Given the description of an element on the screen output the (x, y) to click on. 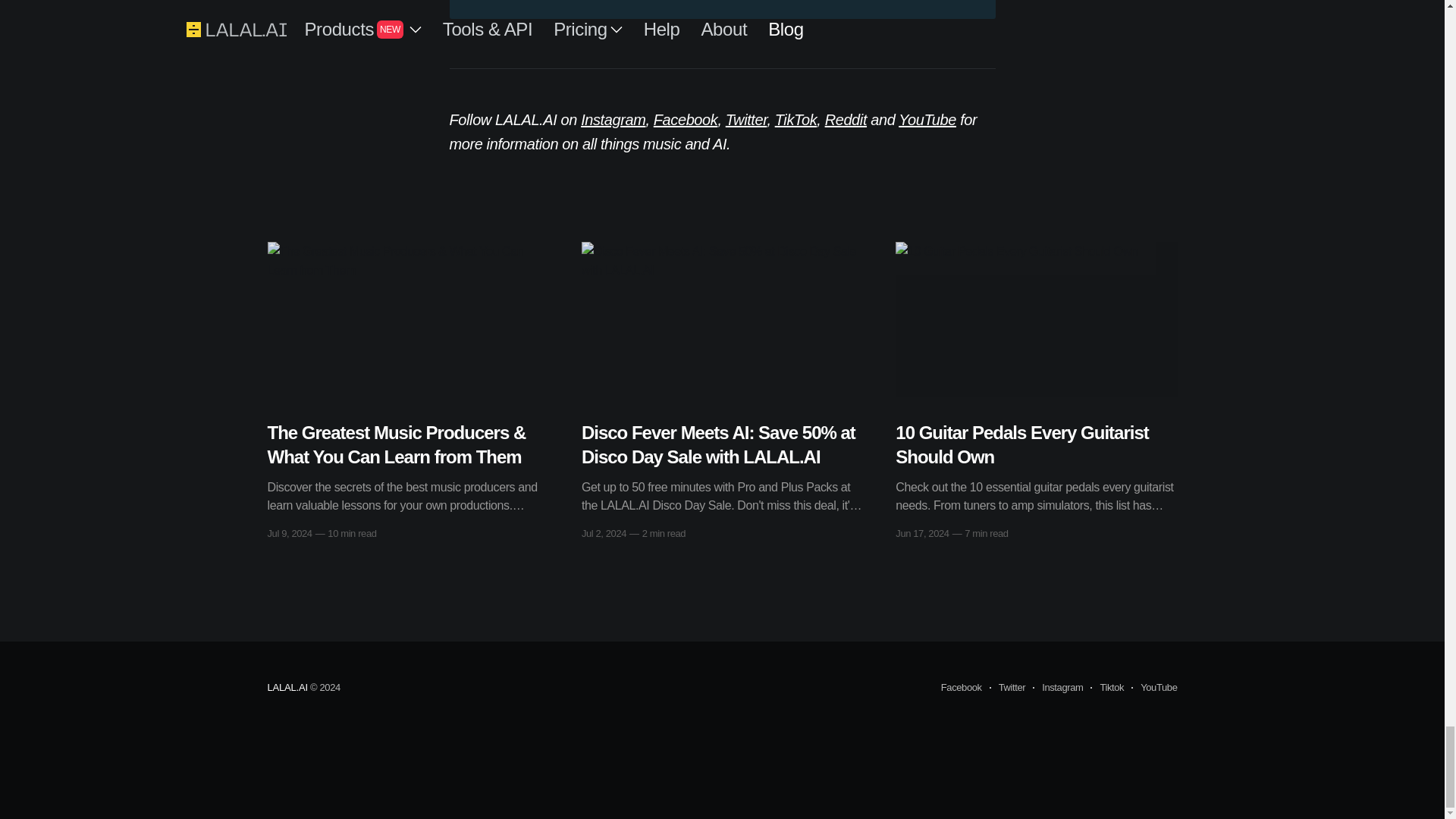
LALAL.AI (286, 686)
Facebook (685, 119)
Twitter (746, 119)
Facebook (960, 687)
Instagram (612, 119)
Instagram (1057, 687)
Twitter (1007, 687)
YouTube (927, 119)
Reddit (845, 119)
TikTok (795, 119)
